Given the description of an element on the screen output the (x, y) to click on. 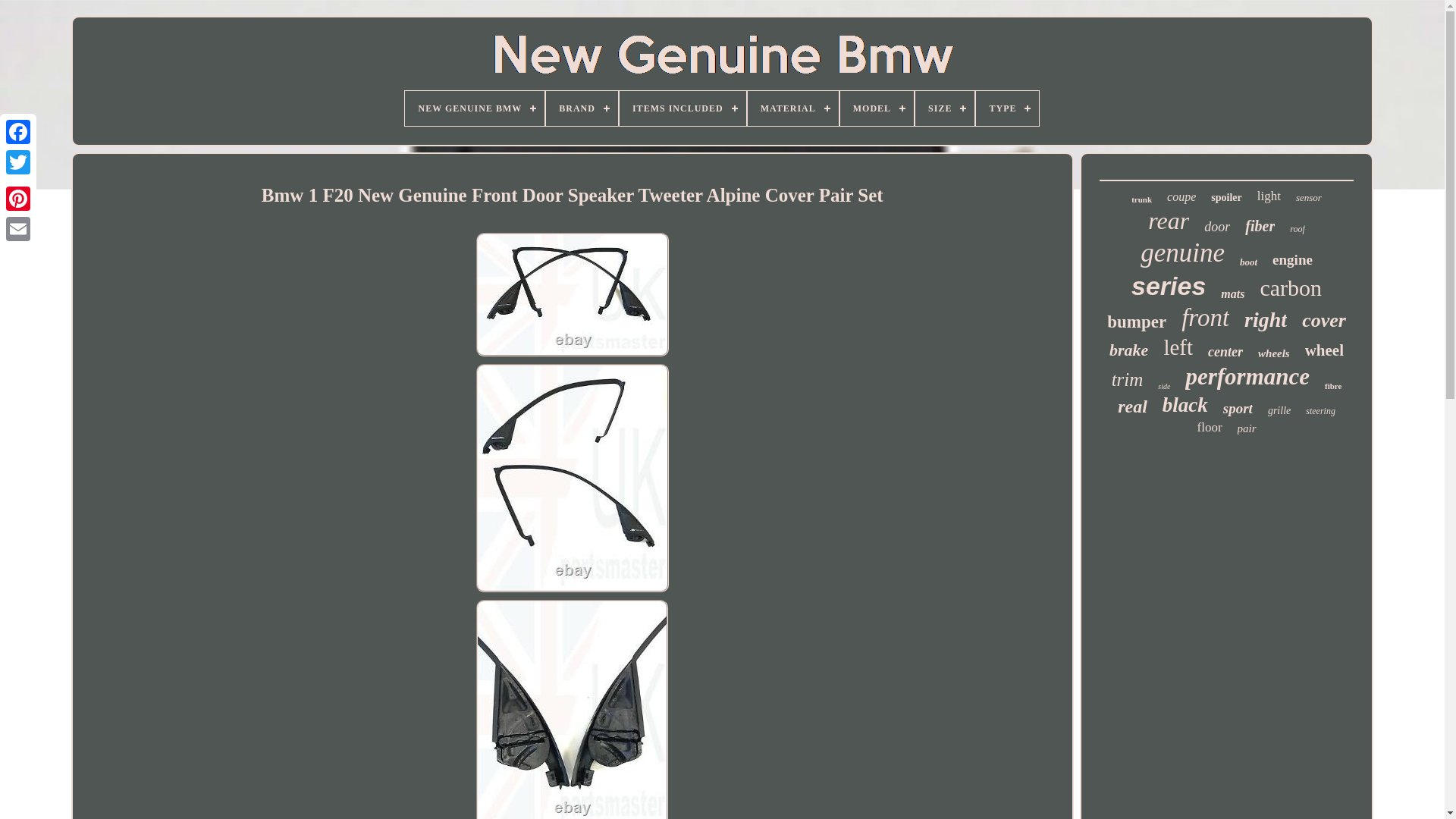
BRAND (581, 108)
ITEMS INCLUDED (682, 108)
NEW GENUINE BMW (474, 108)
Twitter (17, 162)
